Given the description of an element on the screen output the (x, y) to click on. 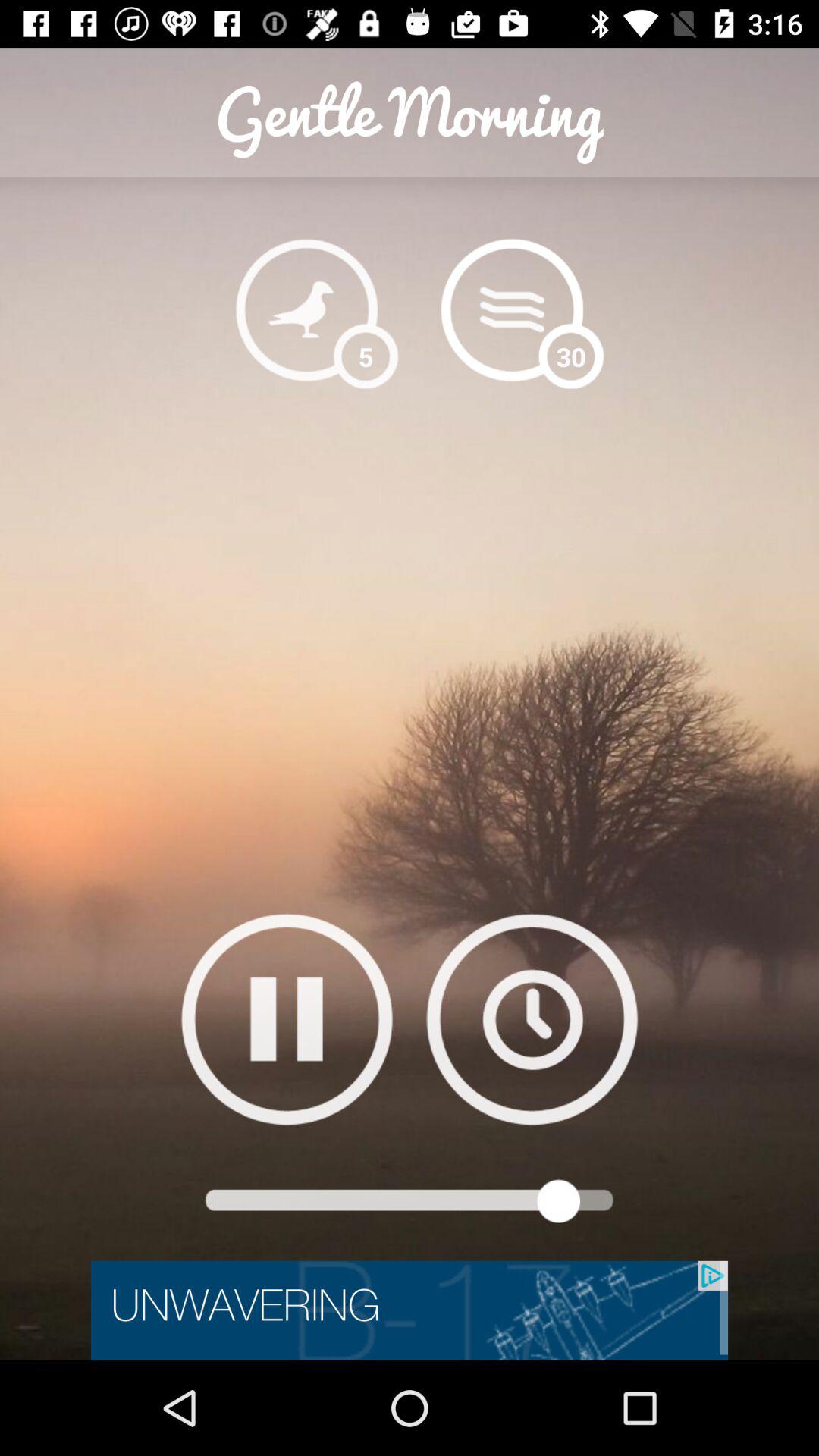
adjust timer (531, 1018)
